Given the description of an element on the screen output the (x, y) to click on. 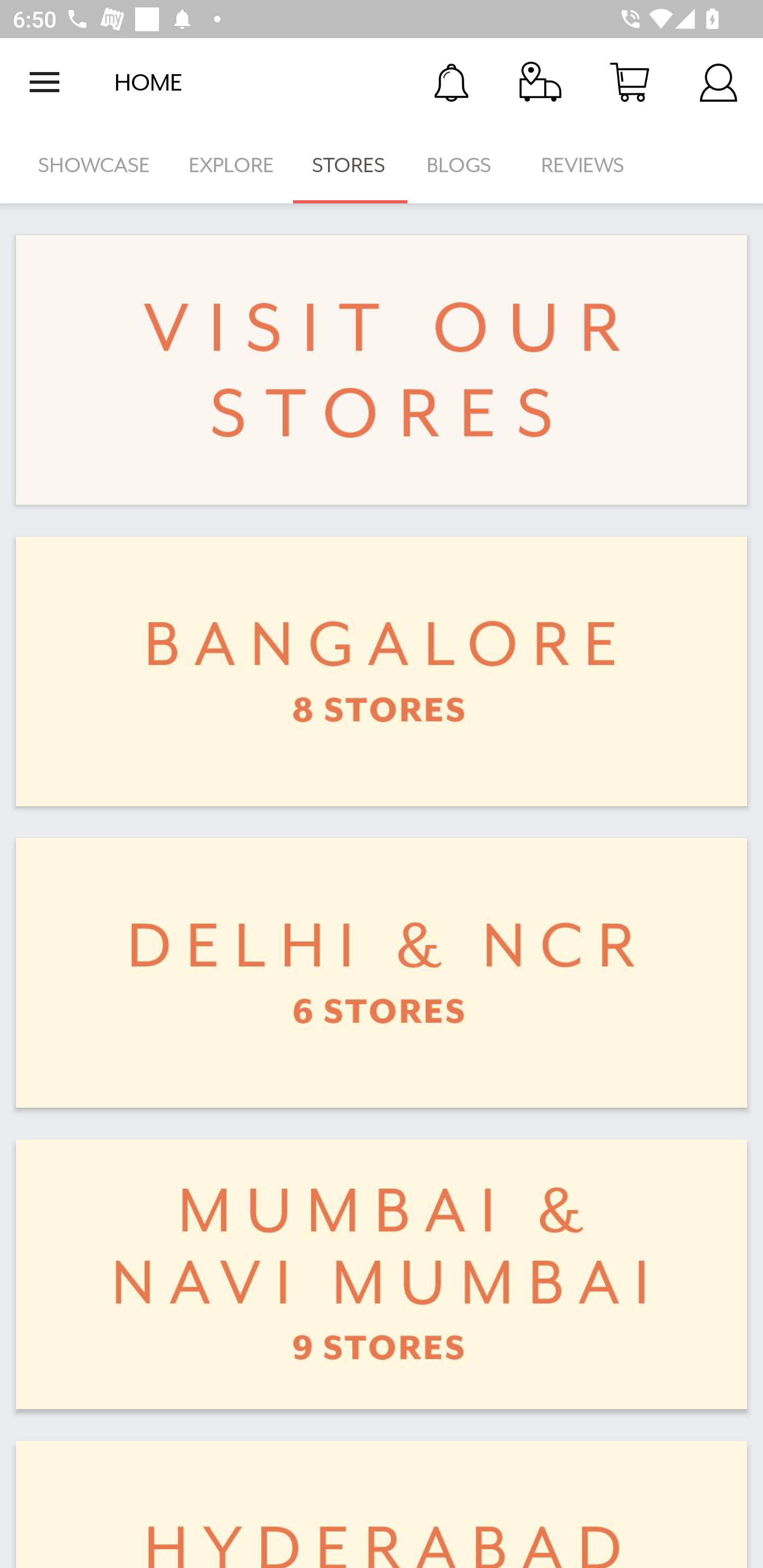
Open navigation drawer (44, 82)
Notification (450, 81)
Track Order (540, 81)
Cart (629, 81)
Account Details (718, 81)
SHOWCASE (94, 165)
EXPLORE (230, 165)
STORES (349, 165)
BLOGS (464, 165)
REVIEWS (582, 165)
